Given the description of an element on the screen output the (x, y) to click on. 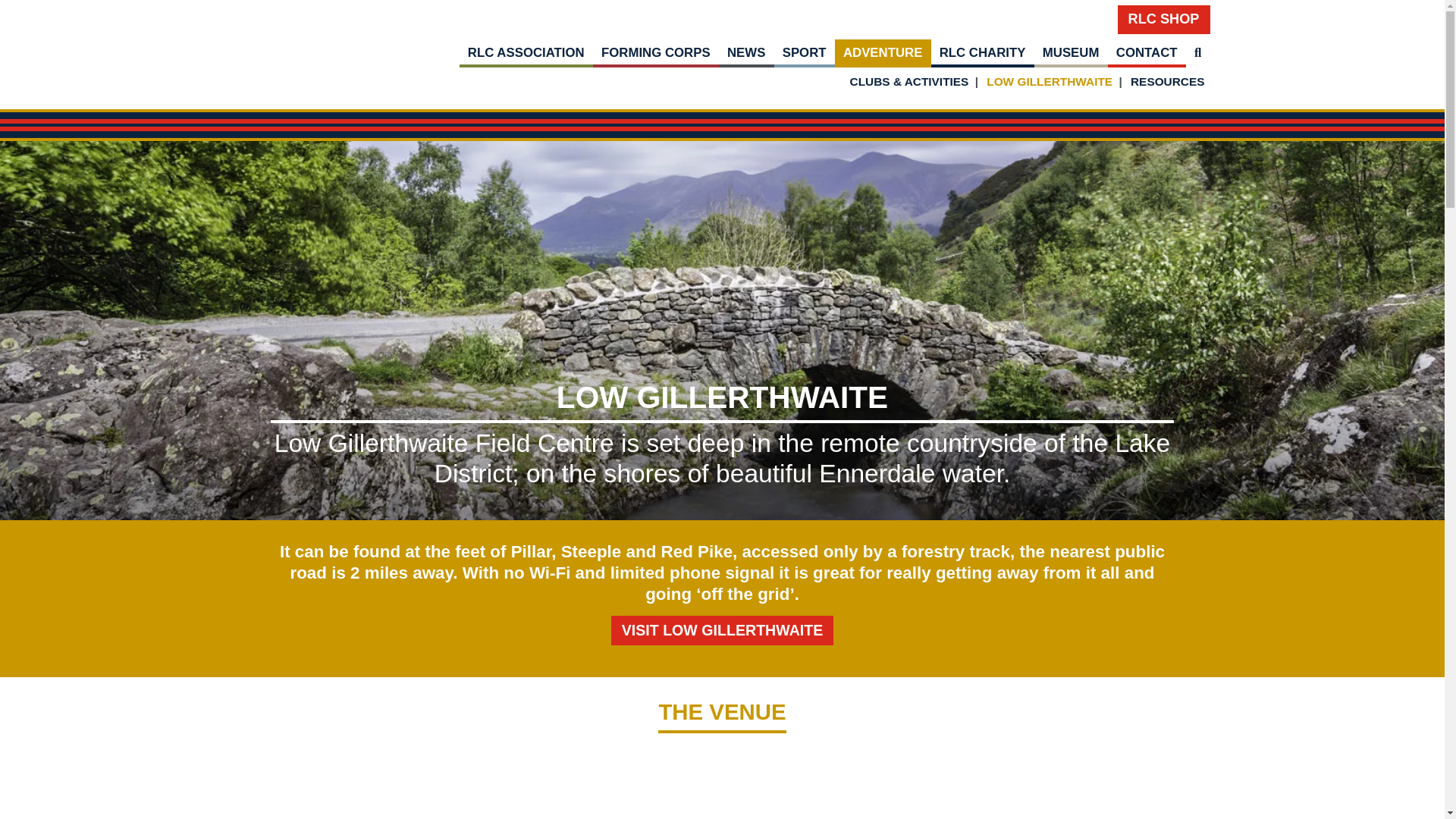
CONTACT (1147, 53)
RLC Shop (1163, 19)
SPORT (804, 53)
VISIT LOW GILLERTHWAITE (722, 630)
LOW GILLERTHWAITE (1049, 81)
ADVENTURE (882, 53)
RLC ASSOCIATION (526, 53)
MUSEUM (1070, 53)
NEWS (746, 53)
RESOURCES (1168, 81)
